Given the description of an element on the screen output the (x, y) to click on. 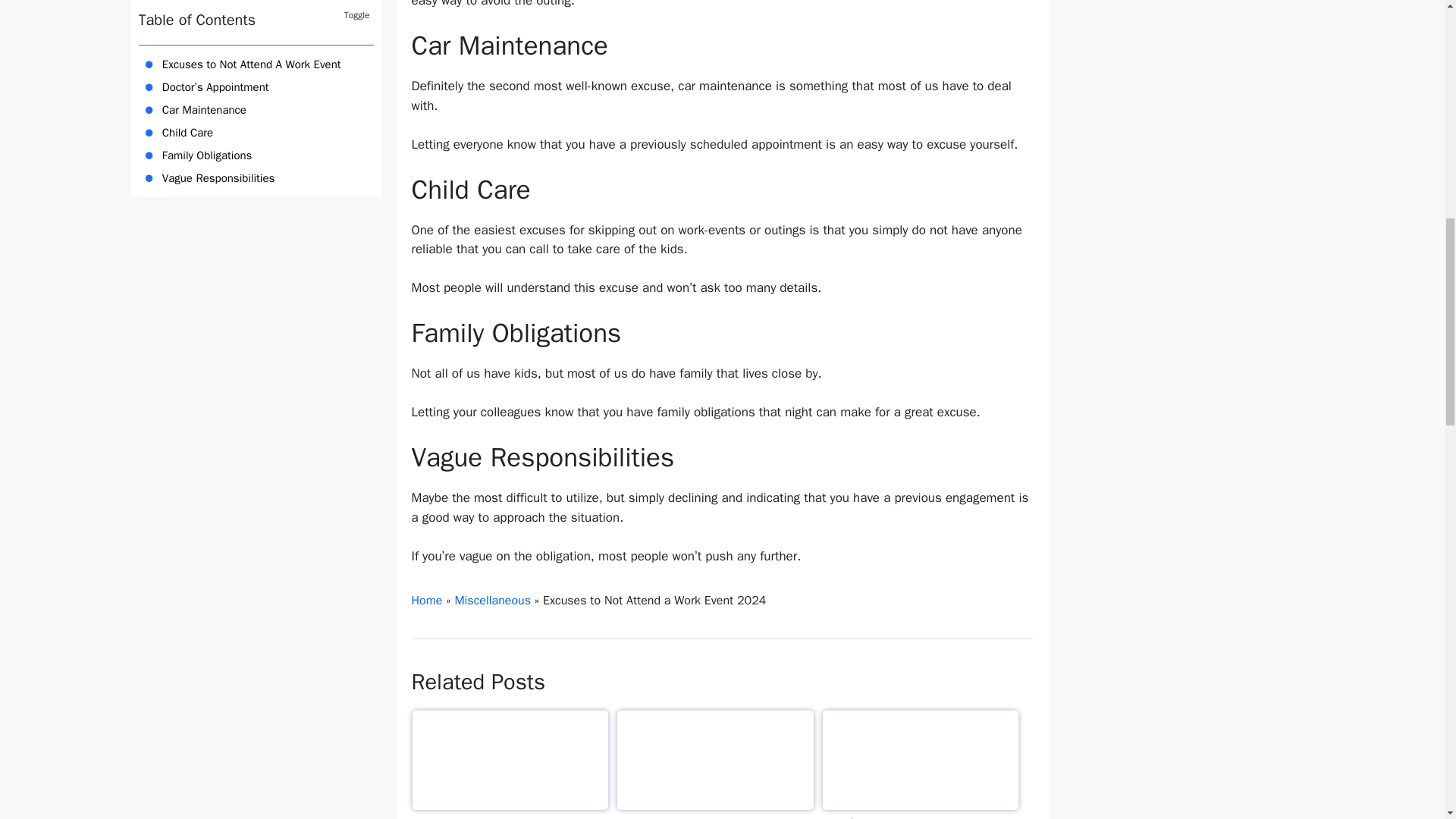
Best Galoshes for Work 2024 (510, 764)
Home (426, 600)
Staffing Agencies Are Beneficial 2024 (715, 764)
Staffing Agencies Are Beneficial 2024 (715, 764)
Miscellaneous (492, 600)
Best Galoshes for Work 2024 (510, 764)
